Given the description of an element on the screen output the (x, y) to click on. 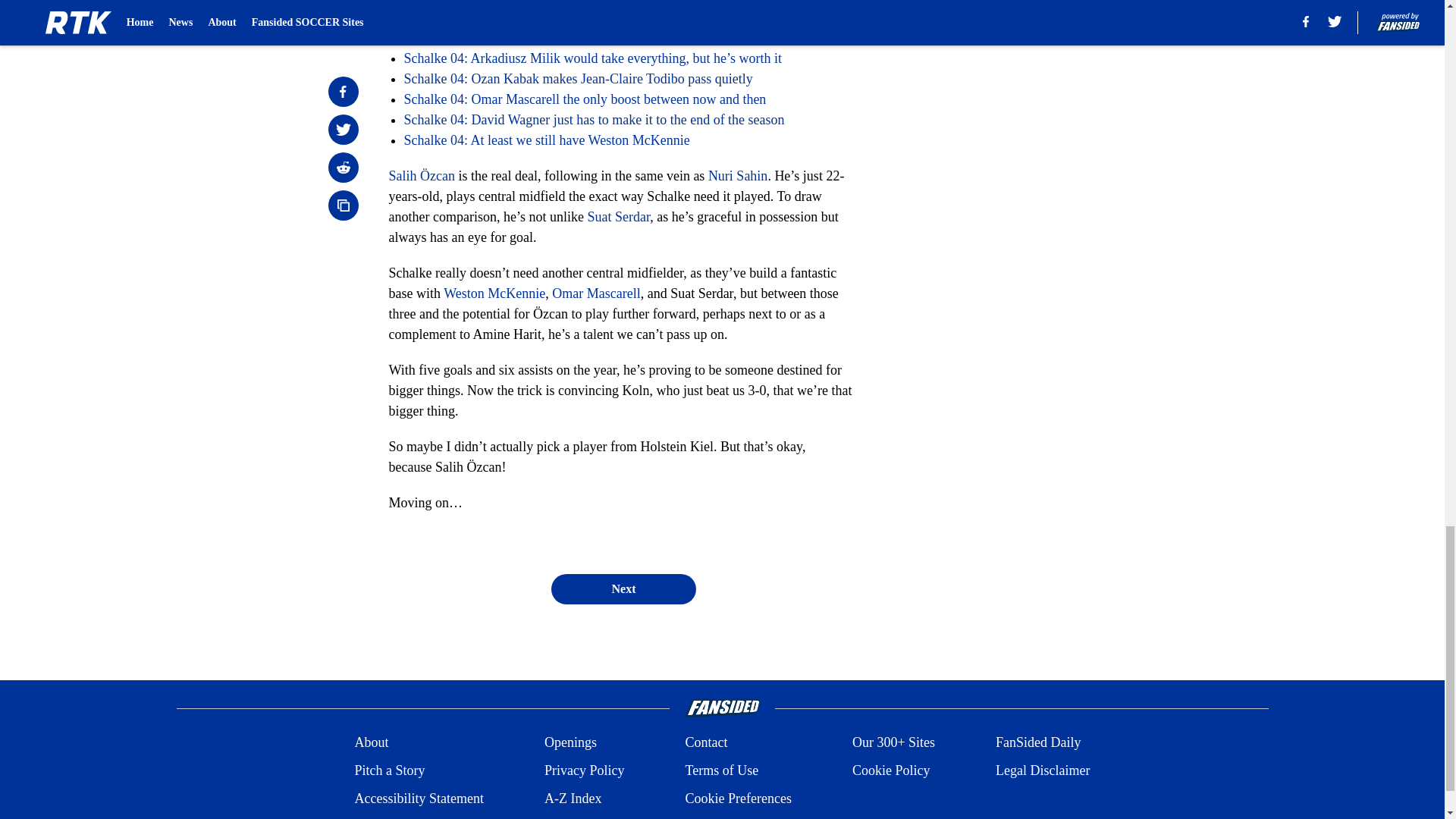
Openings (570, 742)
About (370, 742)
Suat Serdar (617, 216)
Cookie Policy (890, 770)
Omar Mascarell (595, 293)
Contact (705, 742)
Weston McKennie (494, 293)
Next (622, 589)
Privacy Policy (584, 770)
Terms of Use (721, 770)
